Given the description of an element on the screen output the (x, y) to click on. 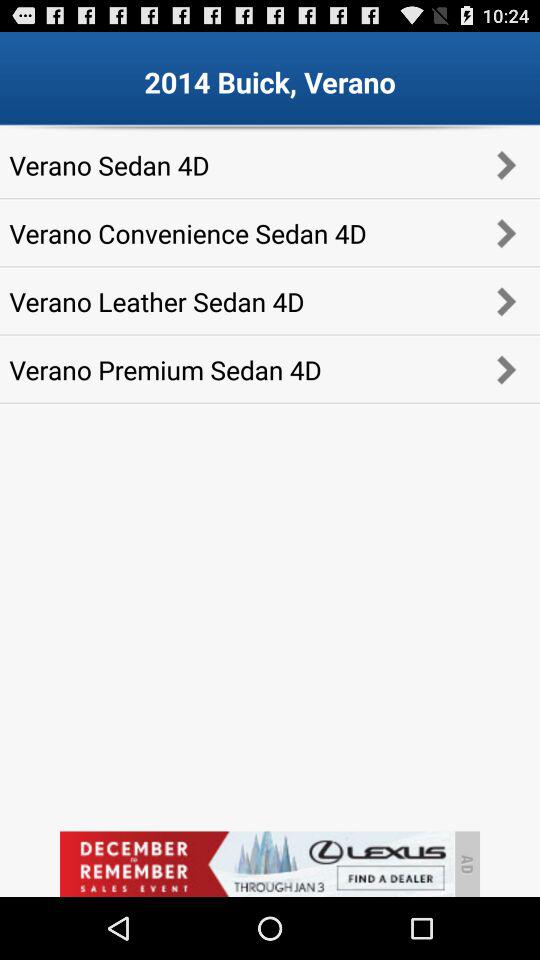
turn off the icon below verano premium sedan app (256, 863)
